Given the description of an element on the screen output the (x, y) to click on. 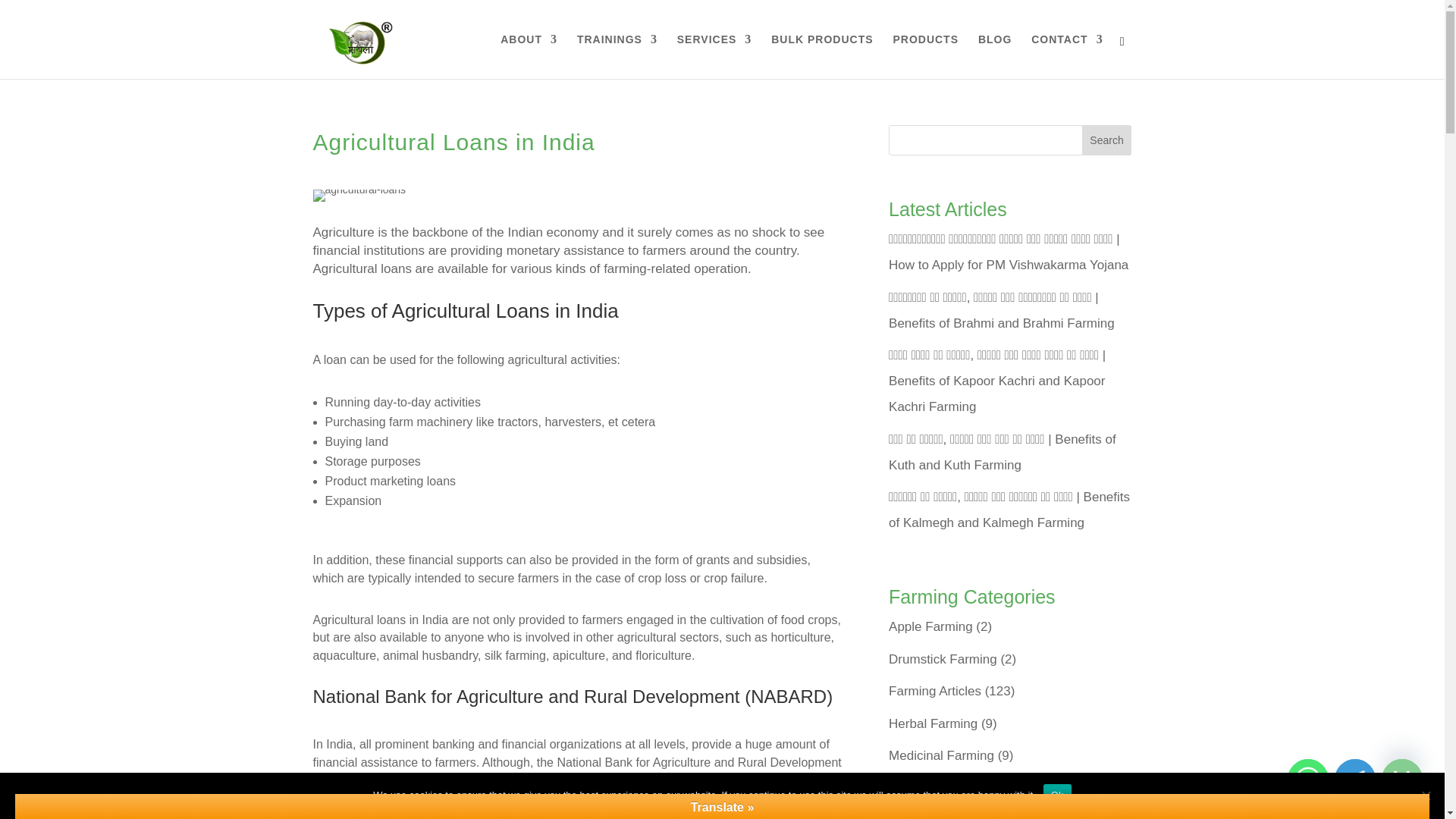
Search (1106, 140)
ABOUT (528, 56)
PRODUCTS (925, 56)
TRAININGS (617, 56)
pexels-iconcom-226615 (359, 195)
CONTACT (1066, 56)
BULK PRODUCTS (821, 56)
SERVICES (714, 56)
No (1425, 795)
